Given the description of an element on the screen output the (x, y) to click on. 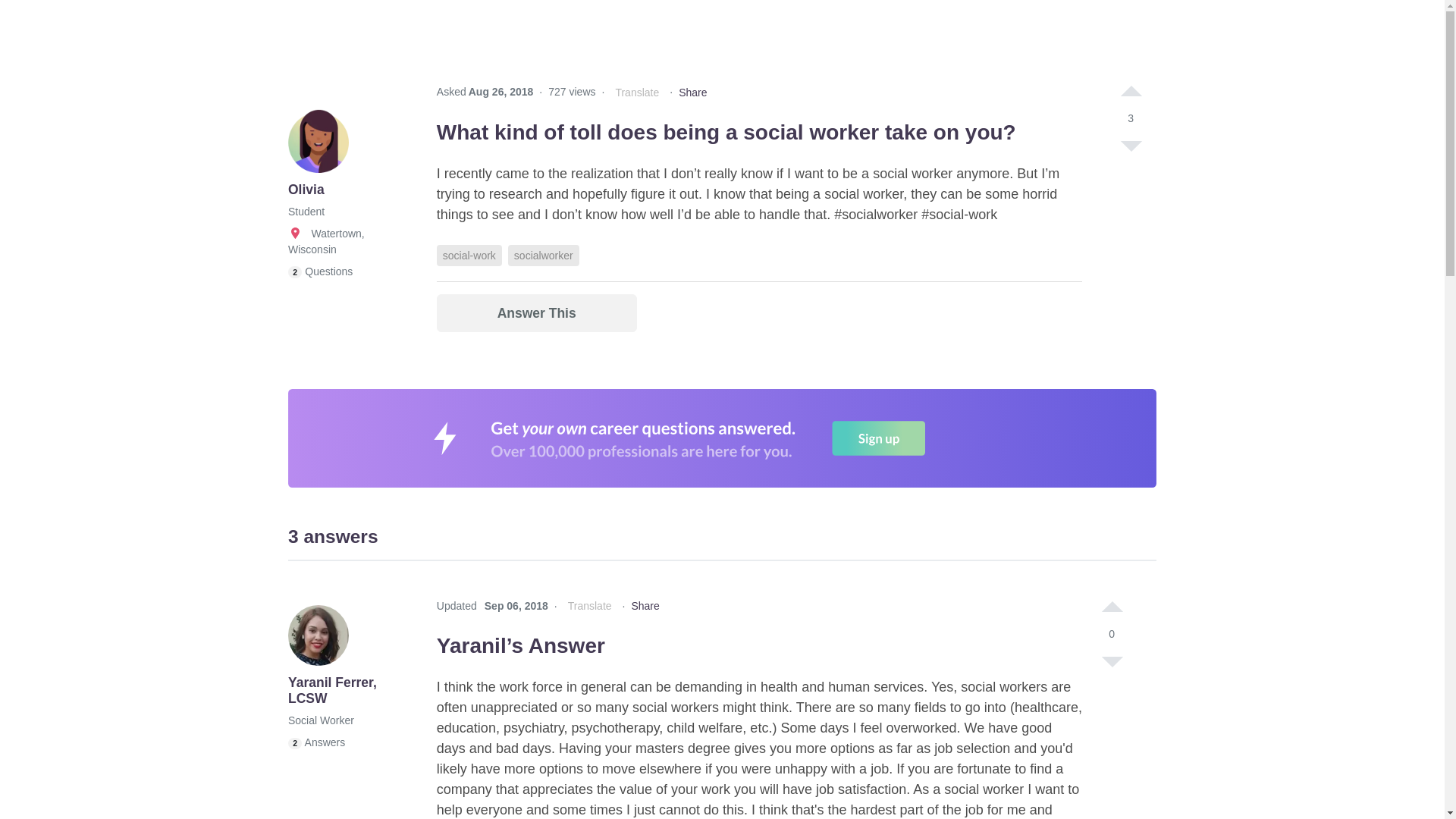
social-work (469, 255)
socialworker (543, 255)
Answer This (536, 313)
Translate (636, 92)
Share (692, 92)
